Given the description of an element on the screen output the (x, y) to click on. 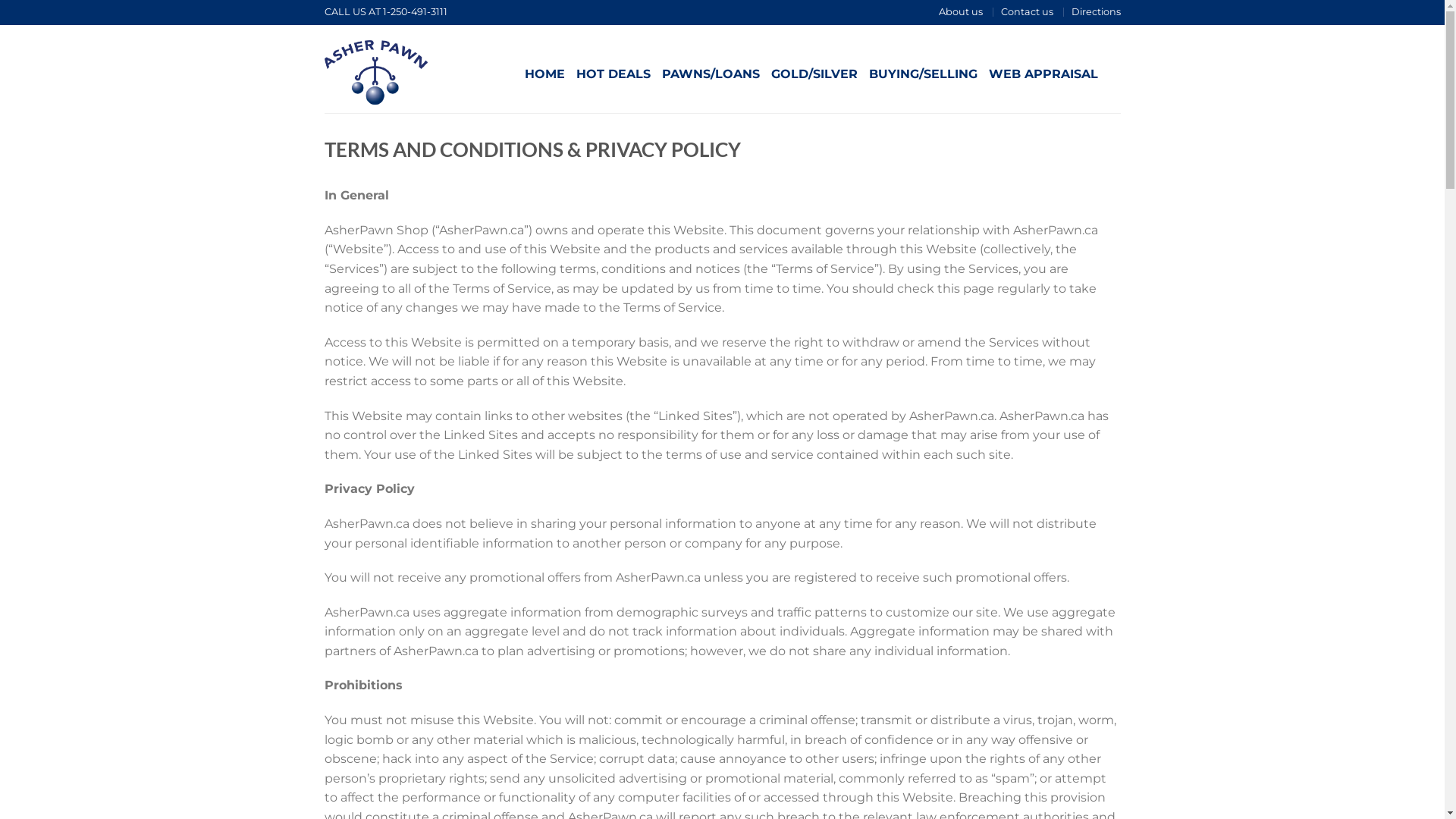
WEB APPRAISAL Element type: text (1043, 73)
Contact us Element type: text (1027, 11)
PAWNS/LOANS Element type: text (710, 73)
1-250-491-3111 Element type: text (414, 12)
Directions Element type: text (1095, 11)
BUYING/SELLING Element type: text (923, 73)
About us Element type: text (960, 11)
HOME Element type: text (544, 73)
HOT DEALS Element type: text (613, 73)
GOLD/SILVER Element type: text (813, 73)
